Given the description of an element on the screen output the (x, y) to click on. 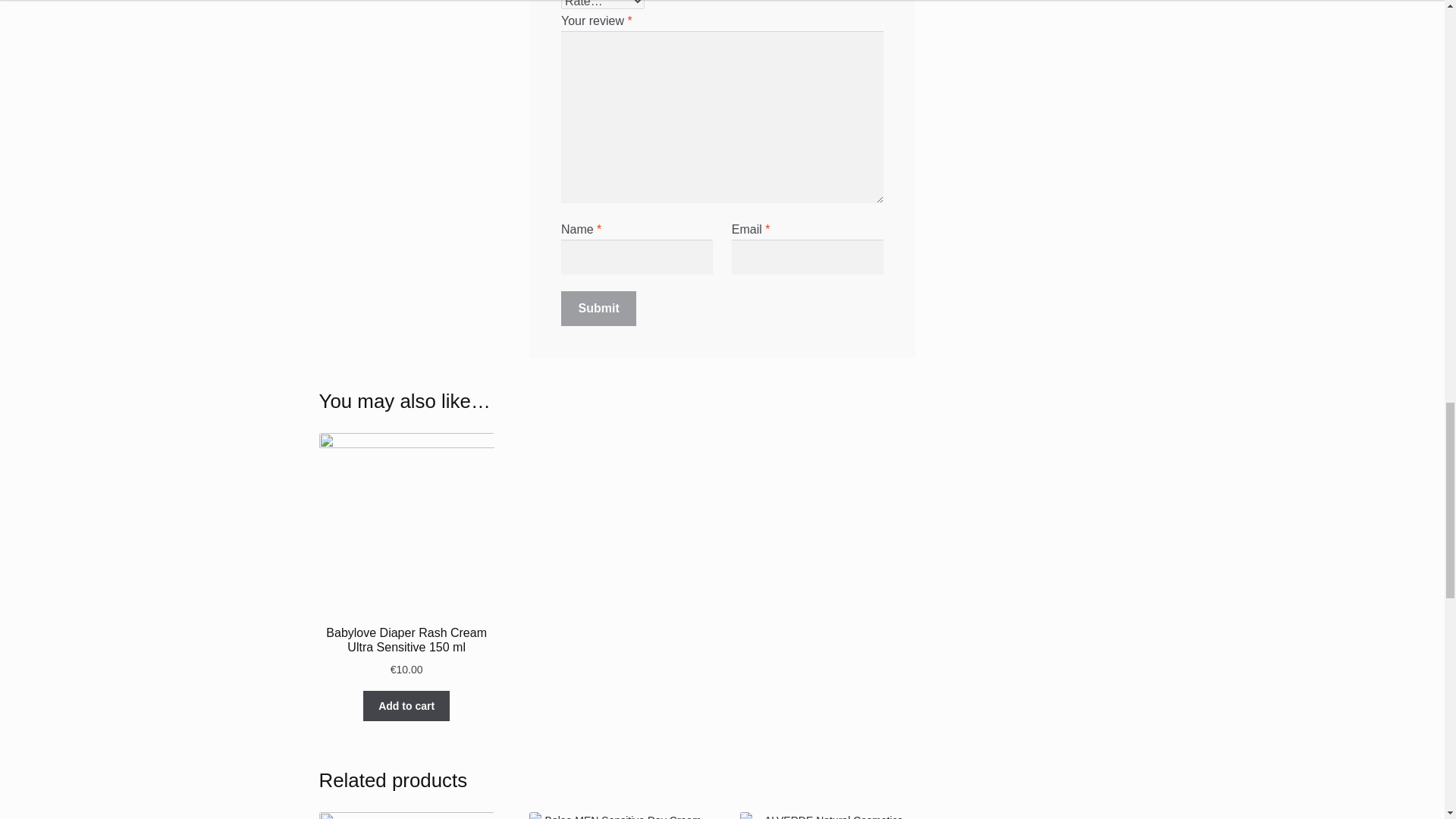
Submit (598, 308)
